Given the description of an element on the screen output the (x, y) to click on. 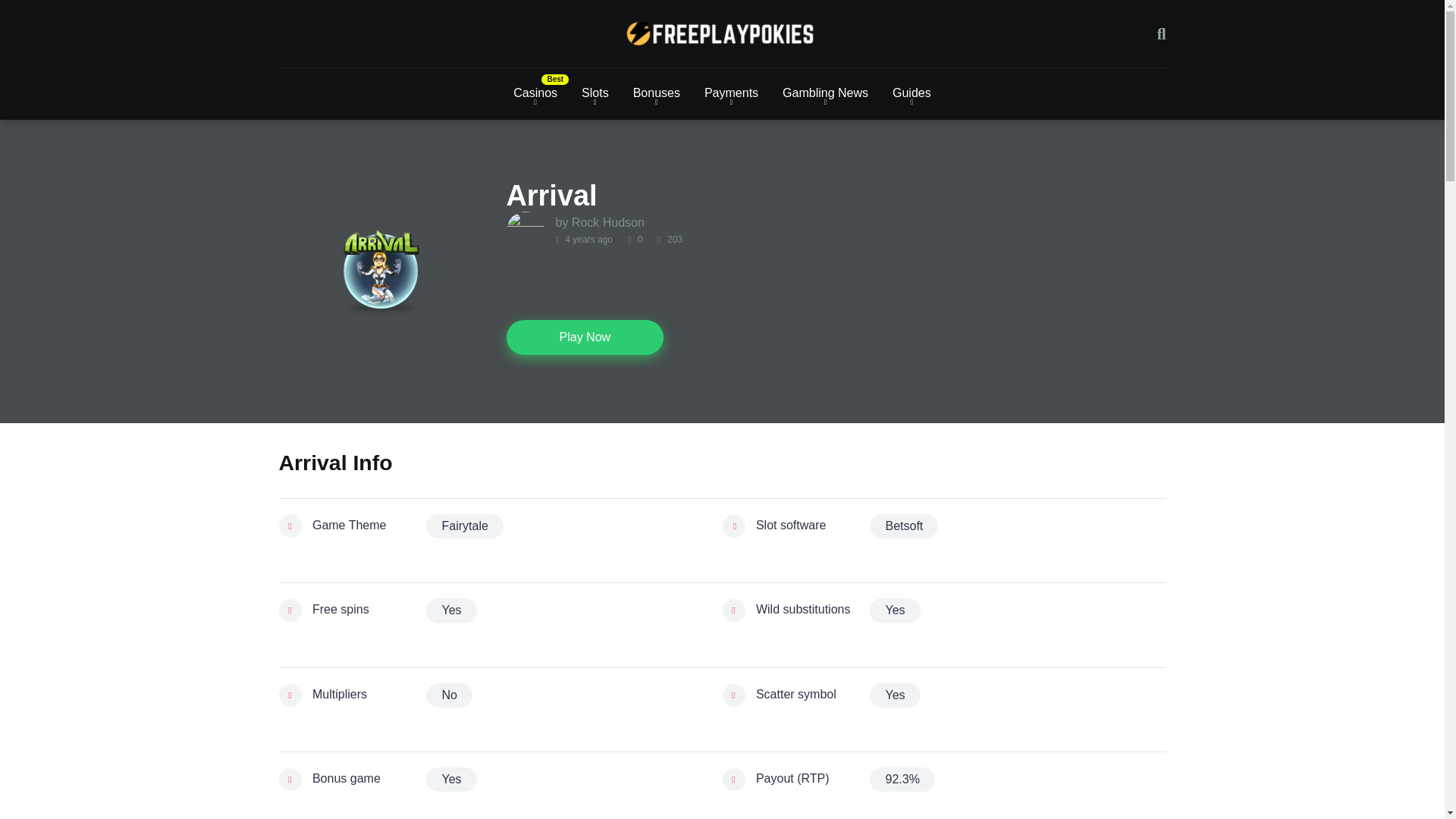
Posts by Rock Hudson (608, 222)
Payments (731, 93)
Fairytale (464, 526)
Betsoft (903, 526)
Casinos (534, 93)
Bonuses (657, 93)
FreePlayPokies (722, 33)
Play Now (584, 337)
Slots (595, 93)
